Given the description of an element on the screen output the (x, y) to click on. 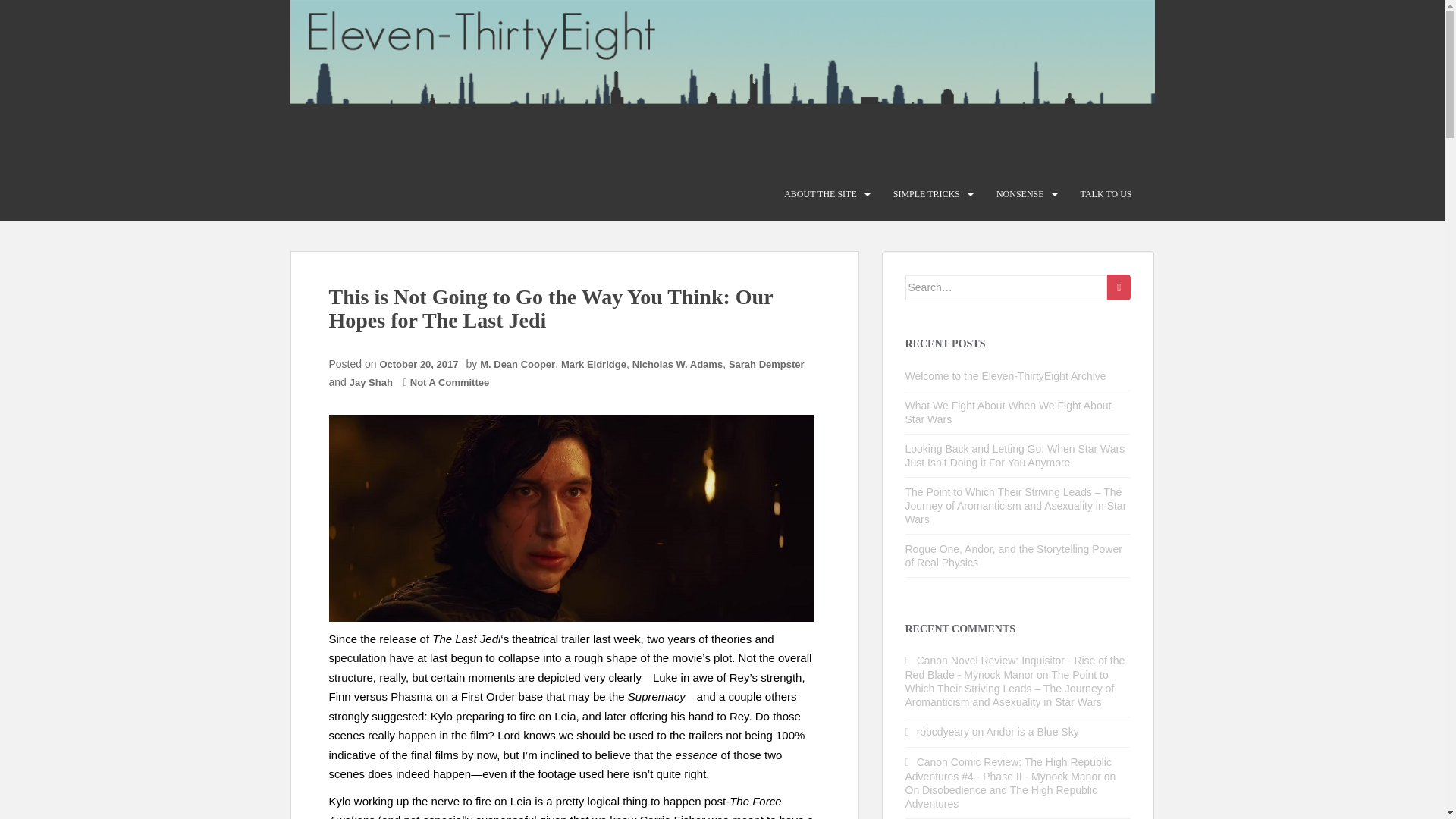
8:00 am (421, 364)
Sarah Dempster (767, 364)
October 20, 2017 (421, 364)
Posts by M. Dean Cooper (517, 364)
SIMPLE TRICKS (926, 194)
Not A Committee (449, 382)
ABOUT THE SITE (820, 194)
NONSENSE (1019, 194)
M. Dean Cooper (517, 364)
Posts by Mark Eldridge (593, 364)
